Given the description of an element on the screen output the (x, y) to click on. 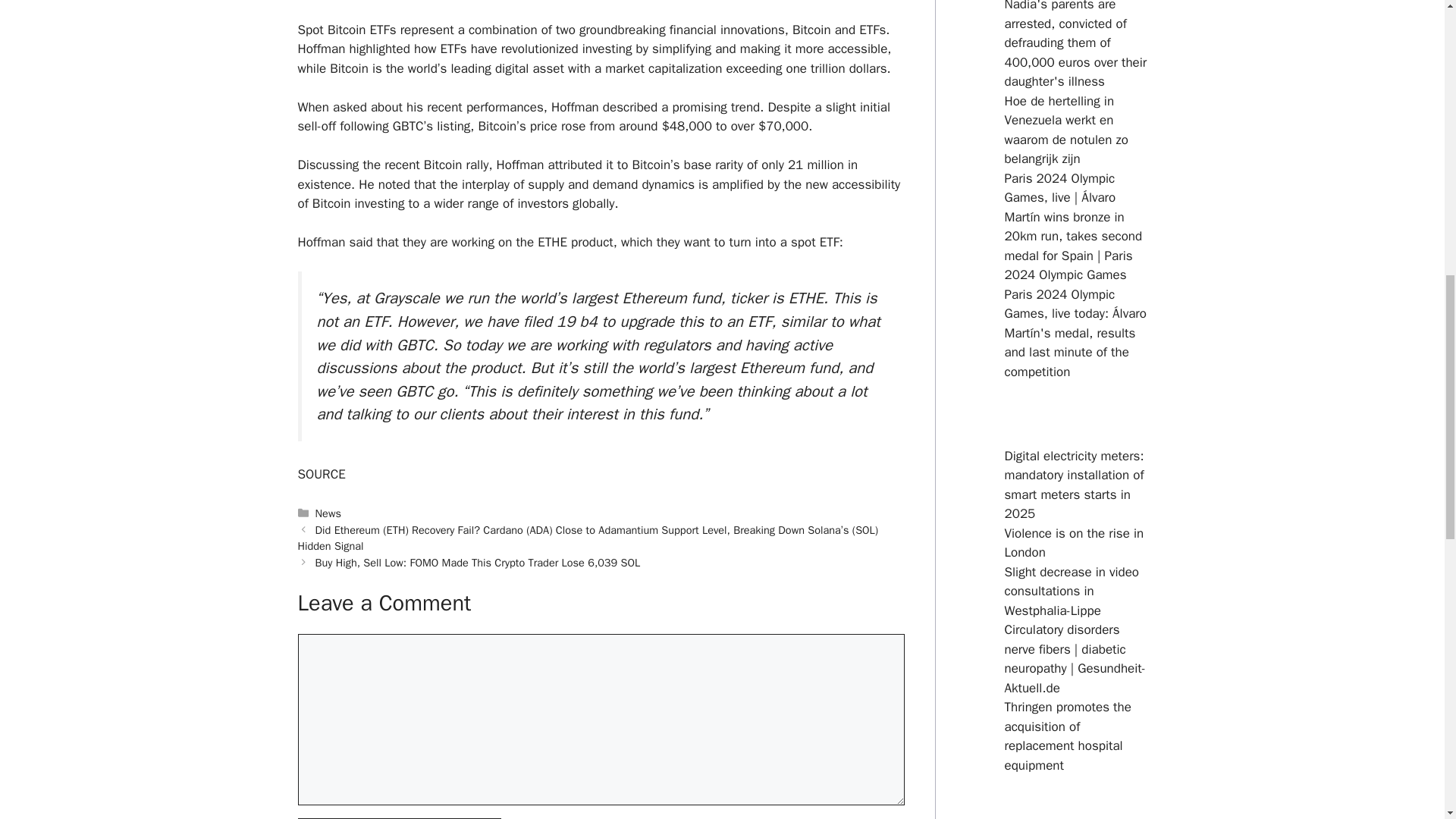
News (327, 513)
SOURCE (321, 474)
Slight decrease in video consultations in Westphalia-Lippe (1071, 591)
Violence is on the rise in London (1073, 543)
